Given the description of an element on the screen output the (x, y) to click on. 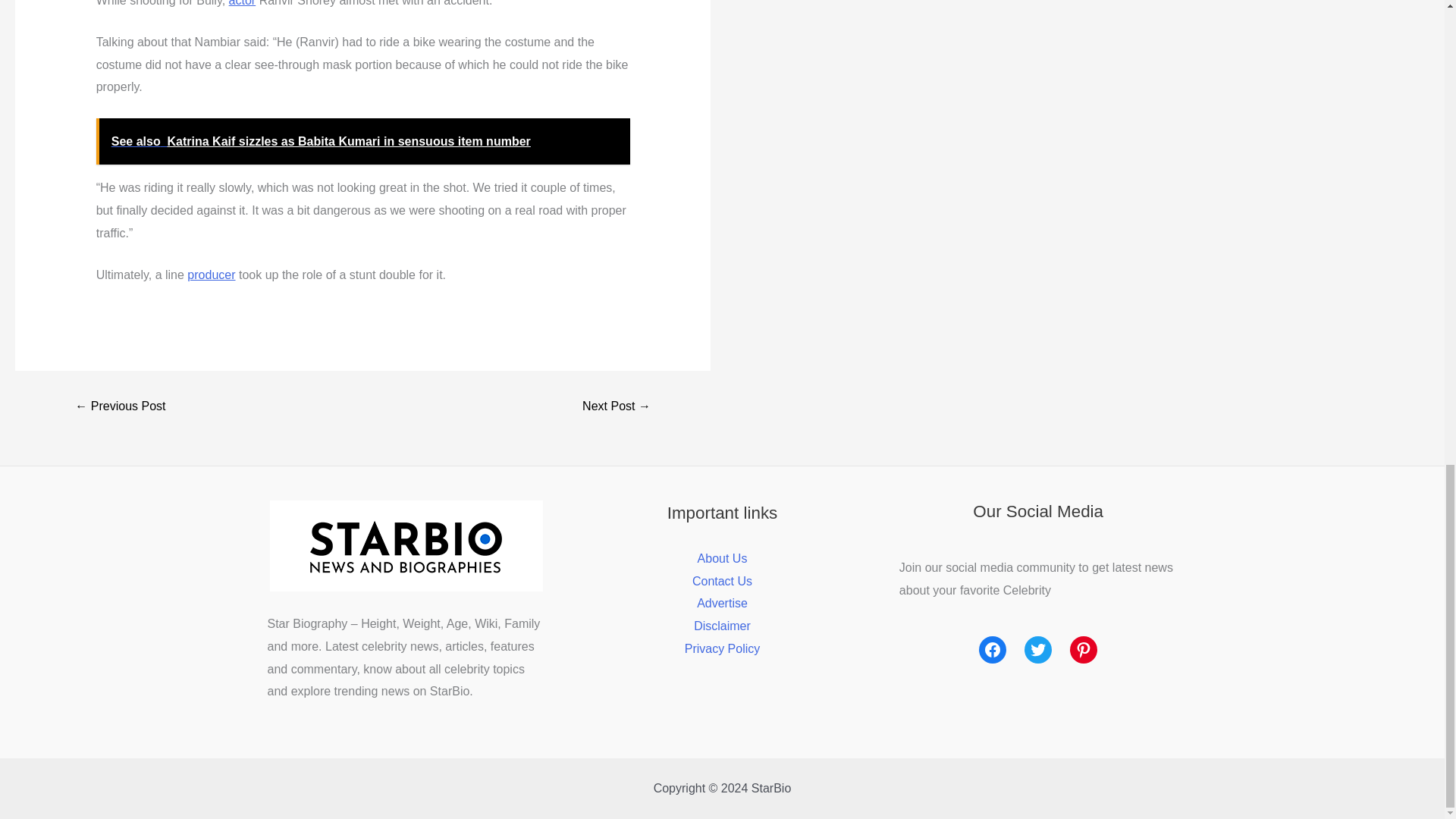
producer (210, 274)
Facebook (992, 649)
actor (242, 3)
Privacy Policy (722, 648)
Disclaimer (722, 625)
Advertise (722, 603)
About Us (722, 558)
producer (210, 274)
actor (242, 3)
